Given the description of an element on the screen output the (x, y) to click on. 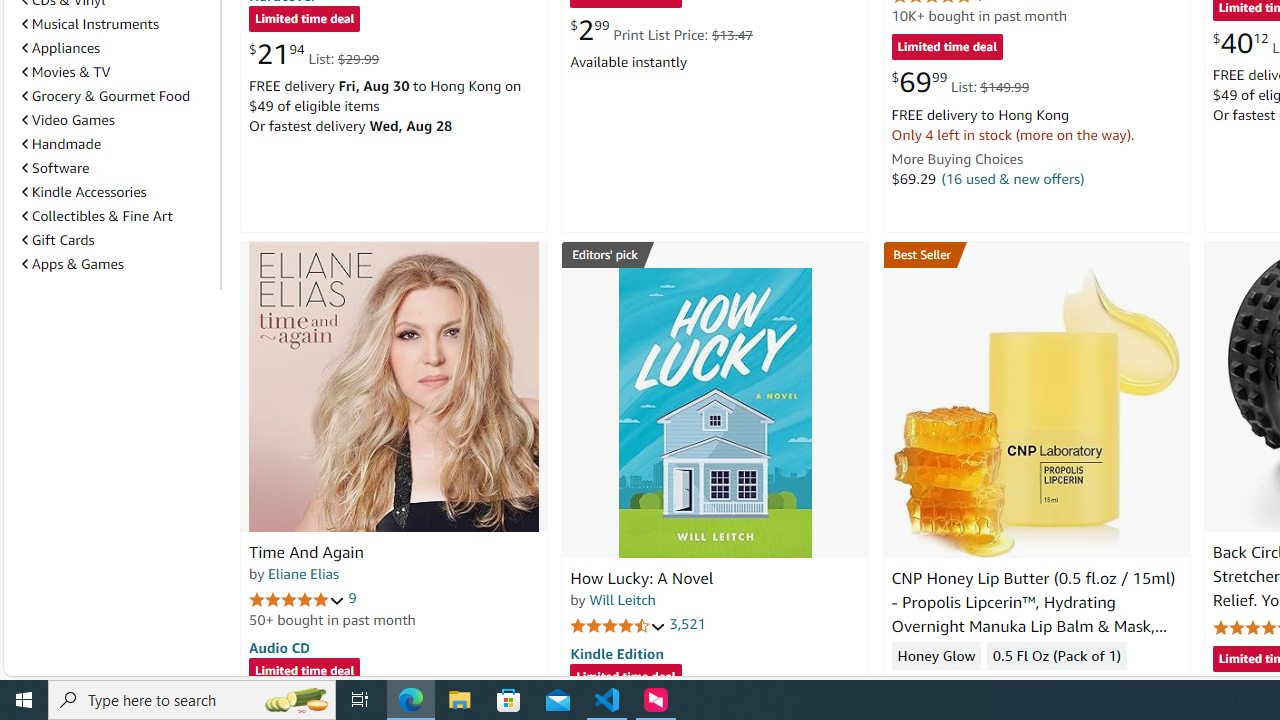
Time And Again (306, 552)
Video Games (68, 119)
Musical Instruments (117, 23)
Movies & TV (66, 71)
$69.99 List: $149.99 (960, 82)
Audio CD (279, 646)
Grocery & Gourmet Food (117, 95)
$21.94 List: $29.99 (314, 54)
Kindle Edition (616, 653)
Video Games (117, 120)
How Lucky: A Novel (714, 412)
5.0 out of 5 stars (297, 598)
Musical Instruments (89, 24)
3,521 (687, 624)
